Given the description of an element on the screen output the (x, y) to click on. 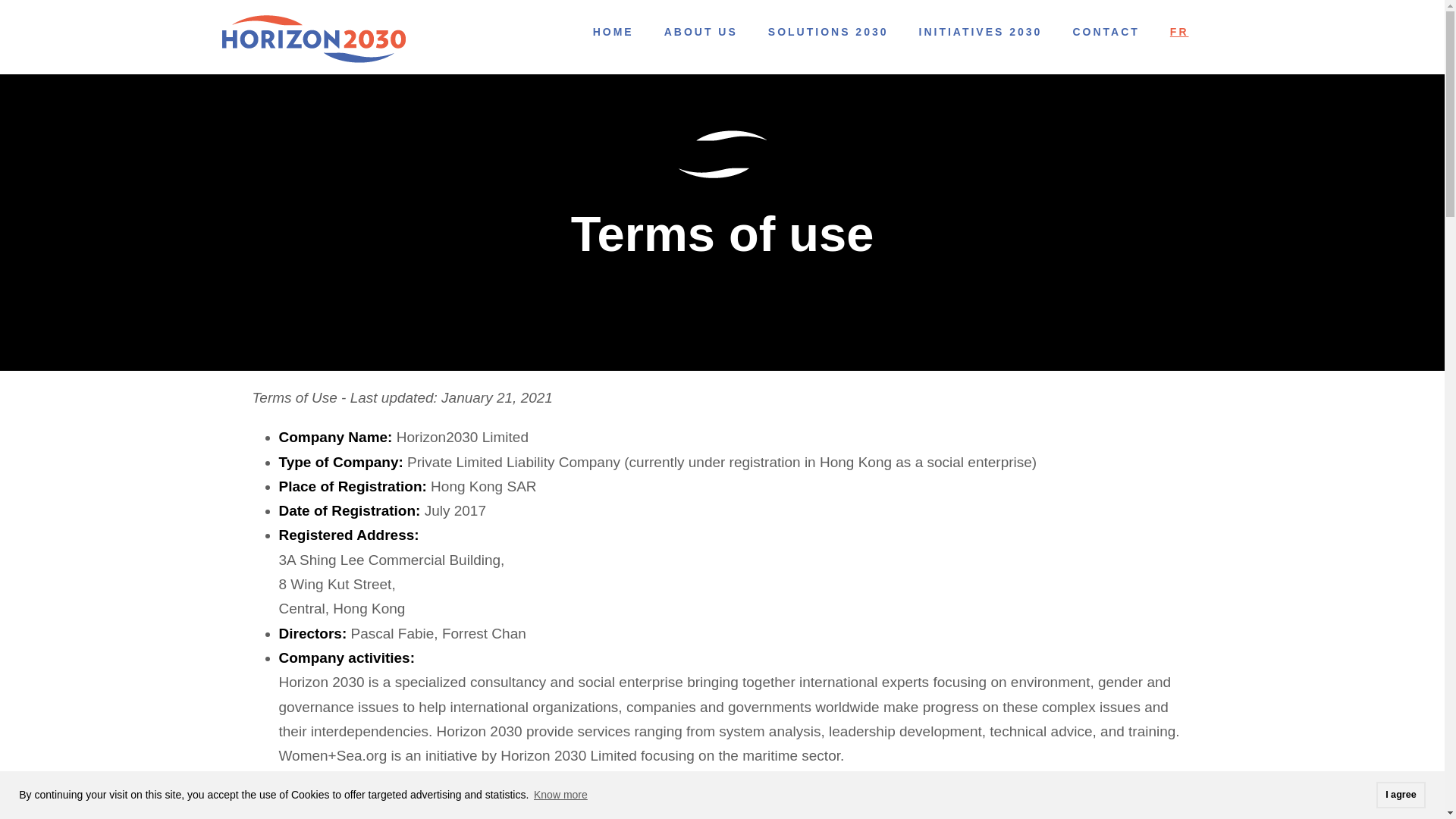
HOME (612, 35)
INITIATIVES 2030 (980, 35)
Know more (560, 794)
mobile-logo (312, 39)
FR (1179, 35)
CONTACT (1104, 35)
Initiatives 2030 (980, 35)
Home (612, 35)
ABOUT US (700, 35)
Contact (1104, 35)
SOLUTIONS 2030 (828, 35)
About Us (700, 35)
Solutions 2030 (828, 35)
FR (1179, 35)
